Given the description of an element on the screen output the (x, y) to click on. 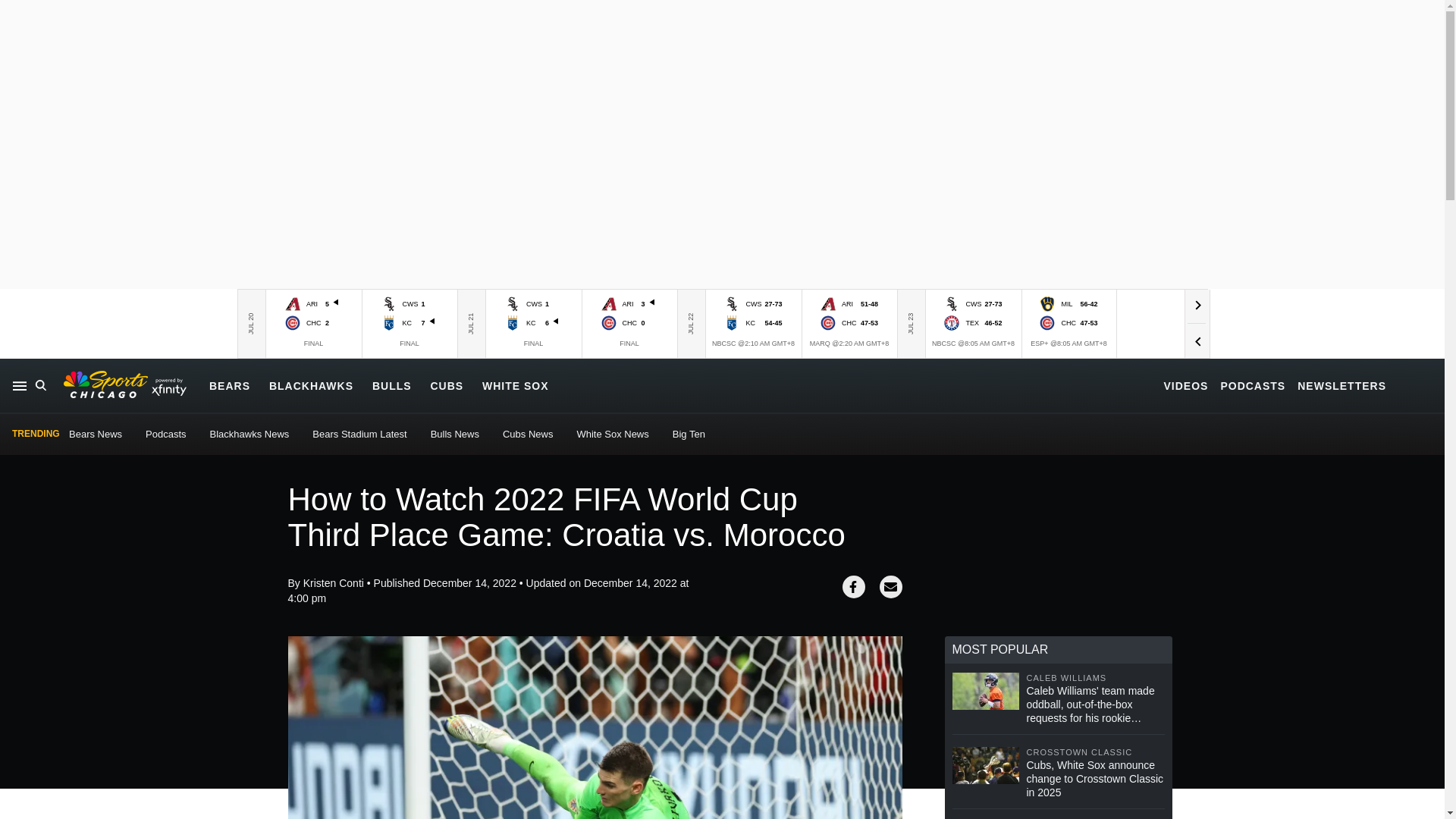
Cubs News (527, 433)
Blackhawks News (249, 433)
Bears Stadium Latest (359, 433)
Bears News (95, 433)
Cubs, White Sox announce change to Crosstown Classic in 2025 (1095, 778)
Podcasts (165, 433)
Kristen Conti (333, 582)
CROSSTOWN CLASSIC (1095, 752)
CUBS (446, 385)
Bulls News (454, 433)
VIDEOS (1185, 385)
White Sox News (611, 433)
BEARS (229, 385)
